Given the description of an element on the screen output the (x, y) to click on. 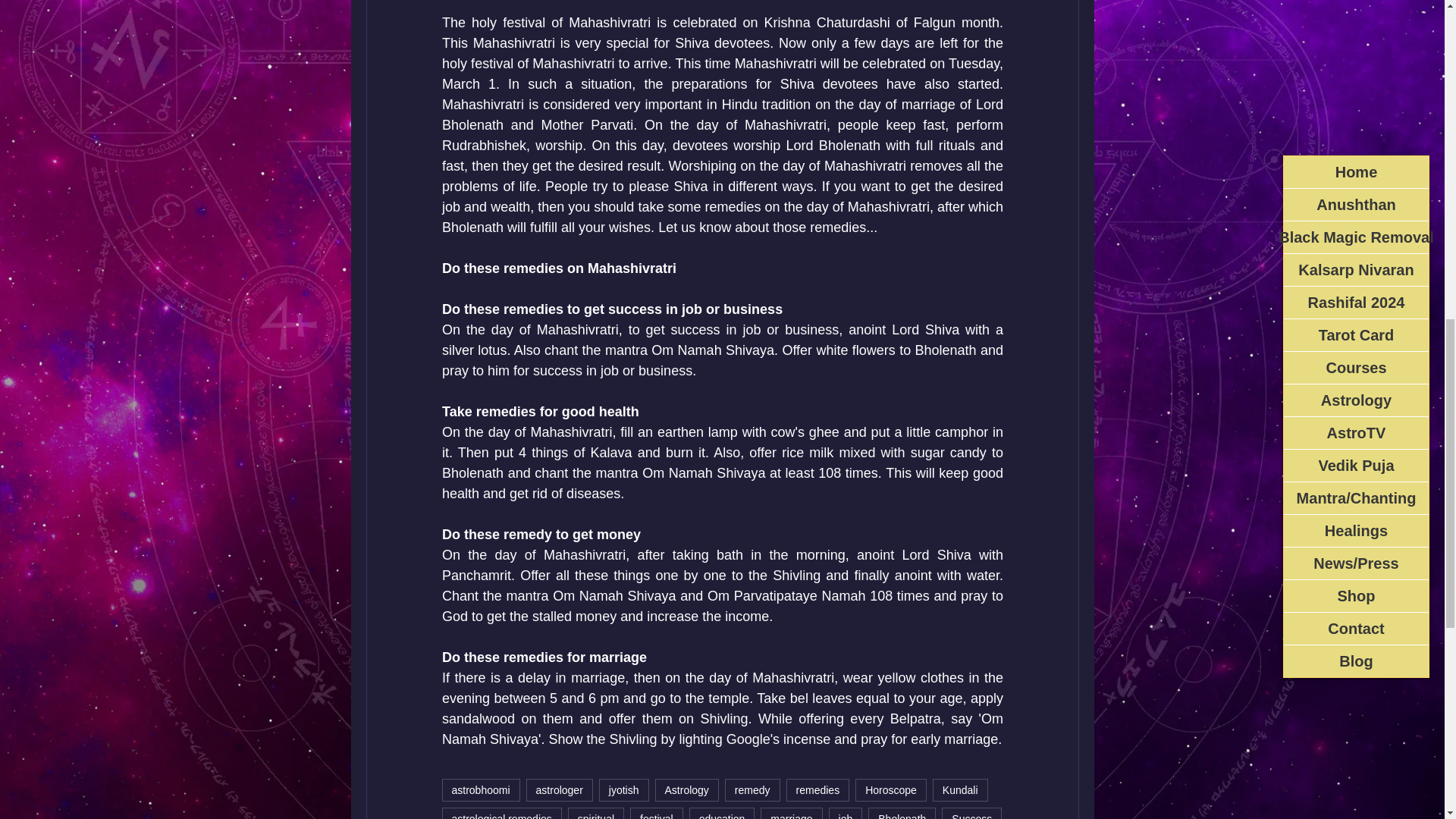
Astrology (687, 789)
astrobhoomi (480, 789)
jyotish (623, 789)
astrologer (558, 789)
